Given the description of an element on the screen output the (x, y) to click on. 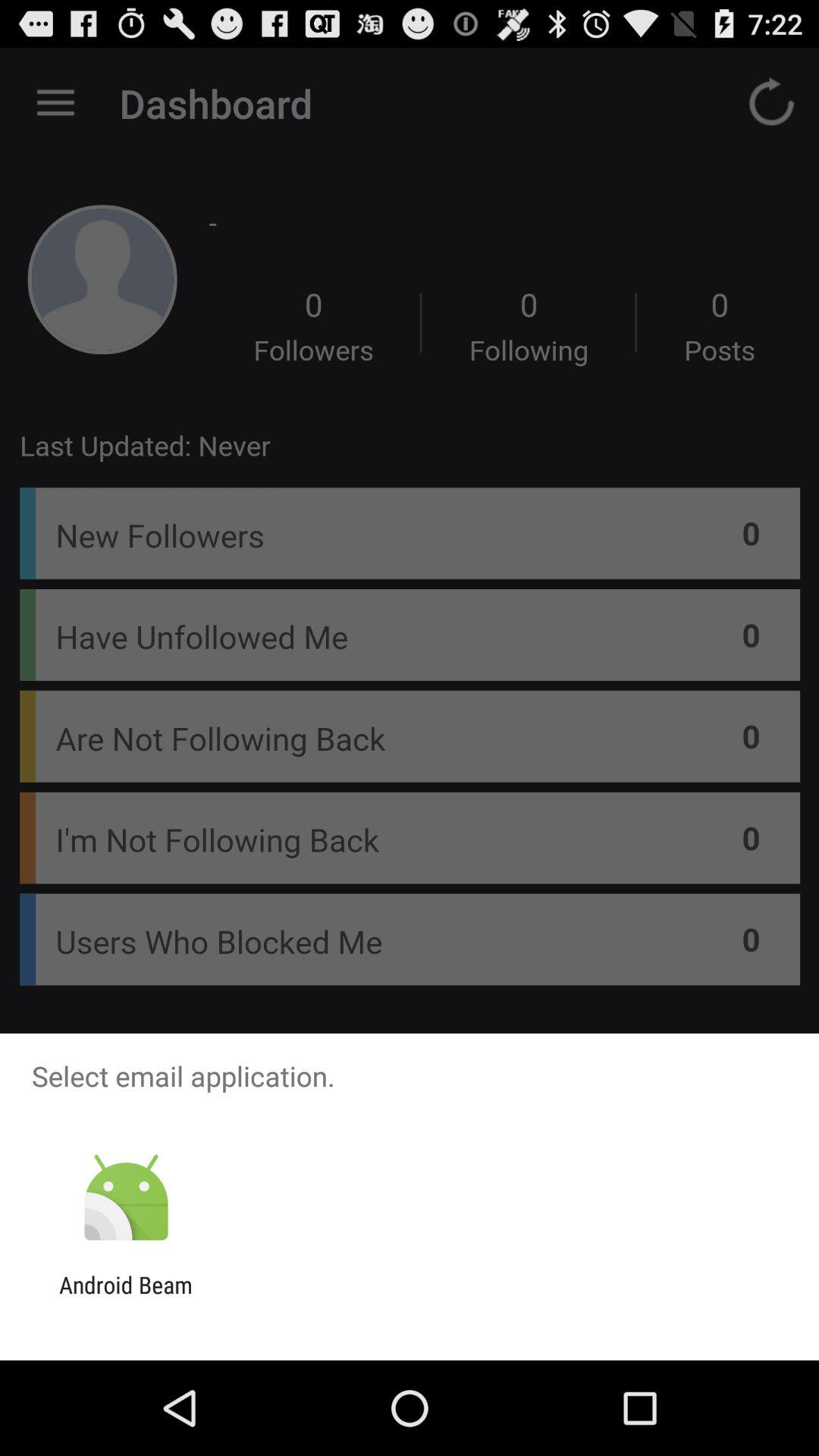
scroll to android beam icon (125, 1298)
